Given the description of an element on the screen output the (x, y) to click on. 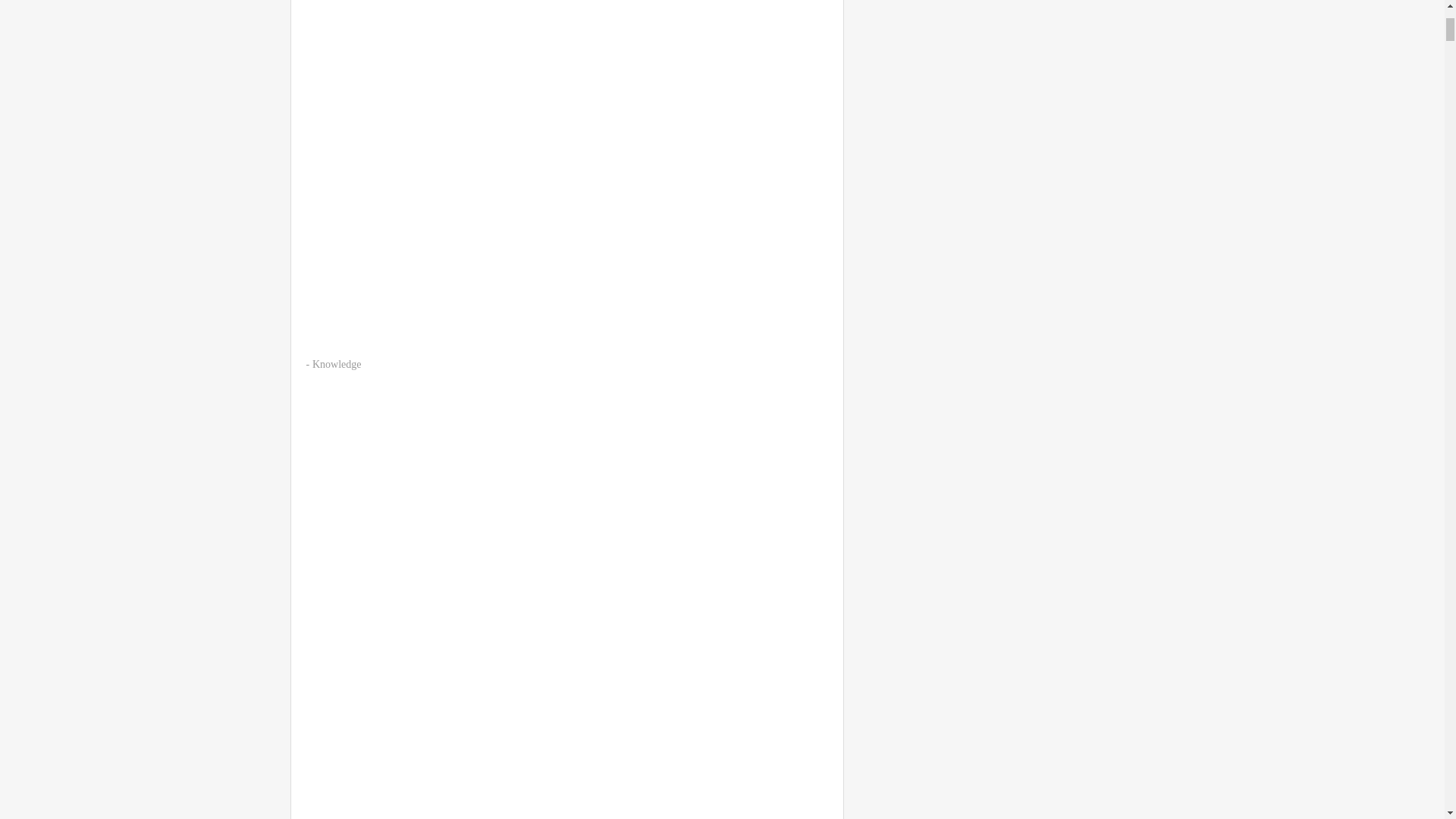
Knowledge (337, 364)
